Given the description of an element on the screen output the (x, y) to click on. 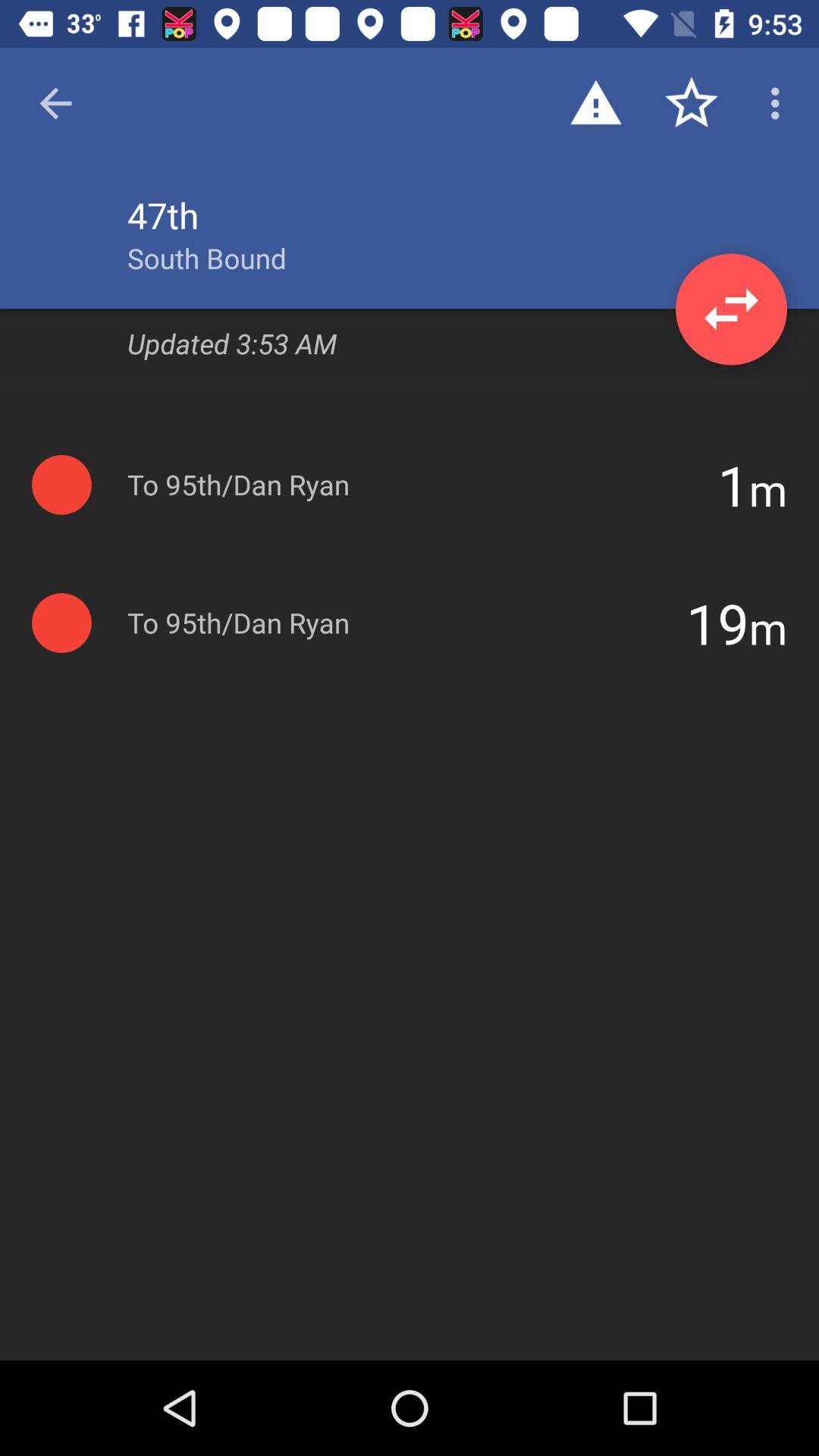
jump until 19 icon (717, 622)
